Given the description of an element on the screen output the (x, y) to click on. 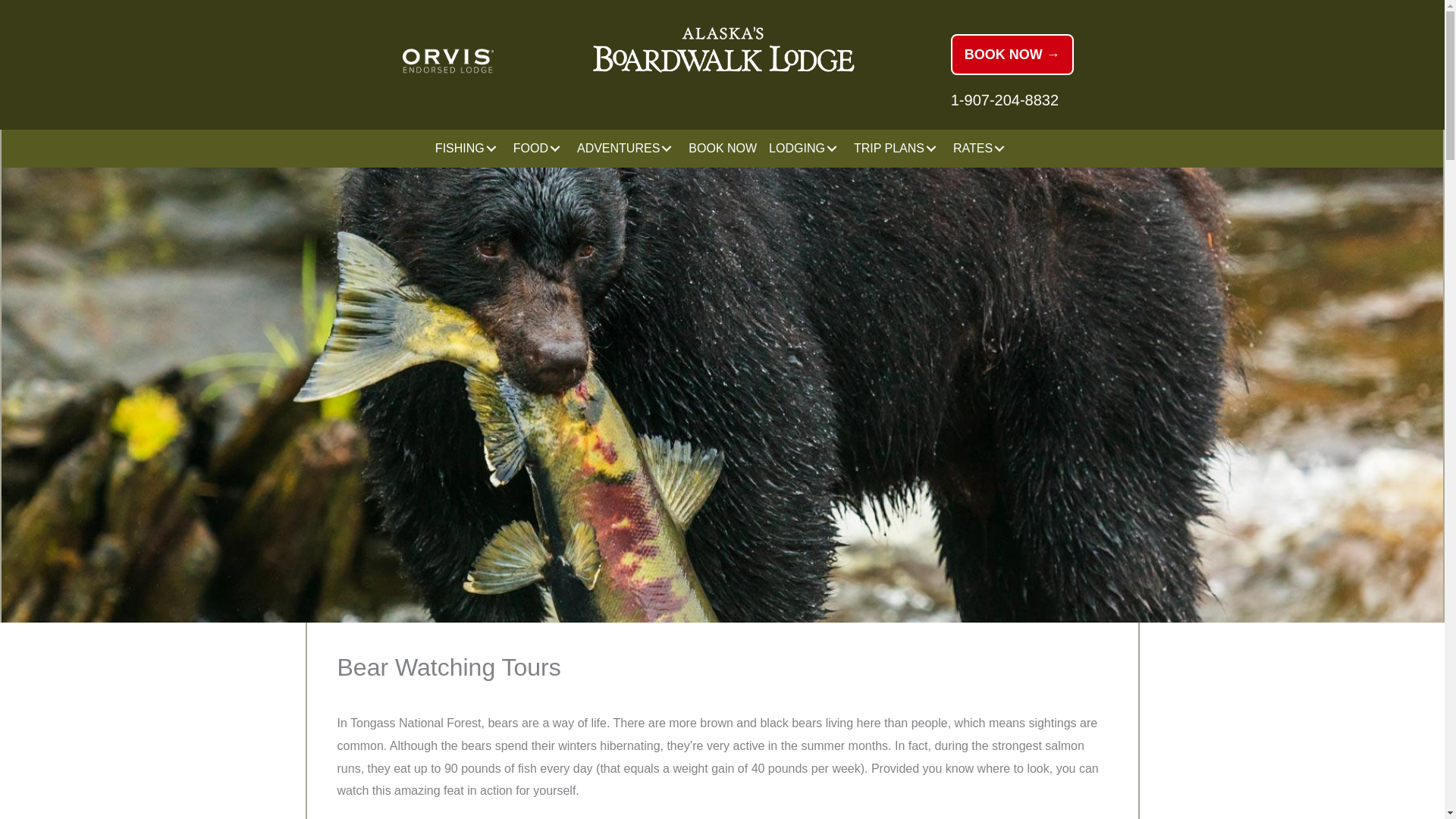
orvis-endorsed-fly-fishing-lodge-logo-600 (448, 60)
LODGING (804, 148)
ADVENTURES (626, 148)
abwl-logo-white-transparent-600w (722, 49)
BOOK NOW (722, 148)
FISHING (467, 148)
FOOD (538, 148)
RATES (980, 148)
TRIP PLANS (897, 148)
1-907-204-8832 (1004, 99)
